Given the description of an element on the screen output the (x, y) to click on. 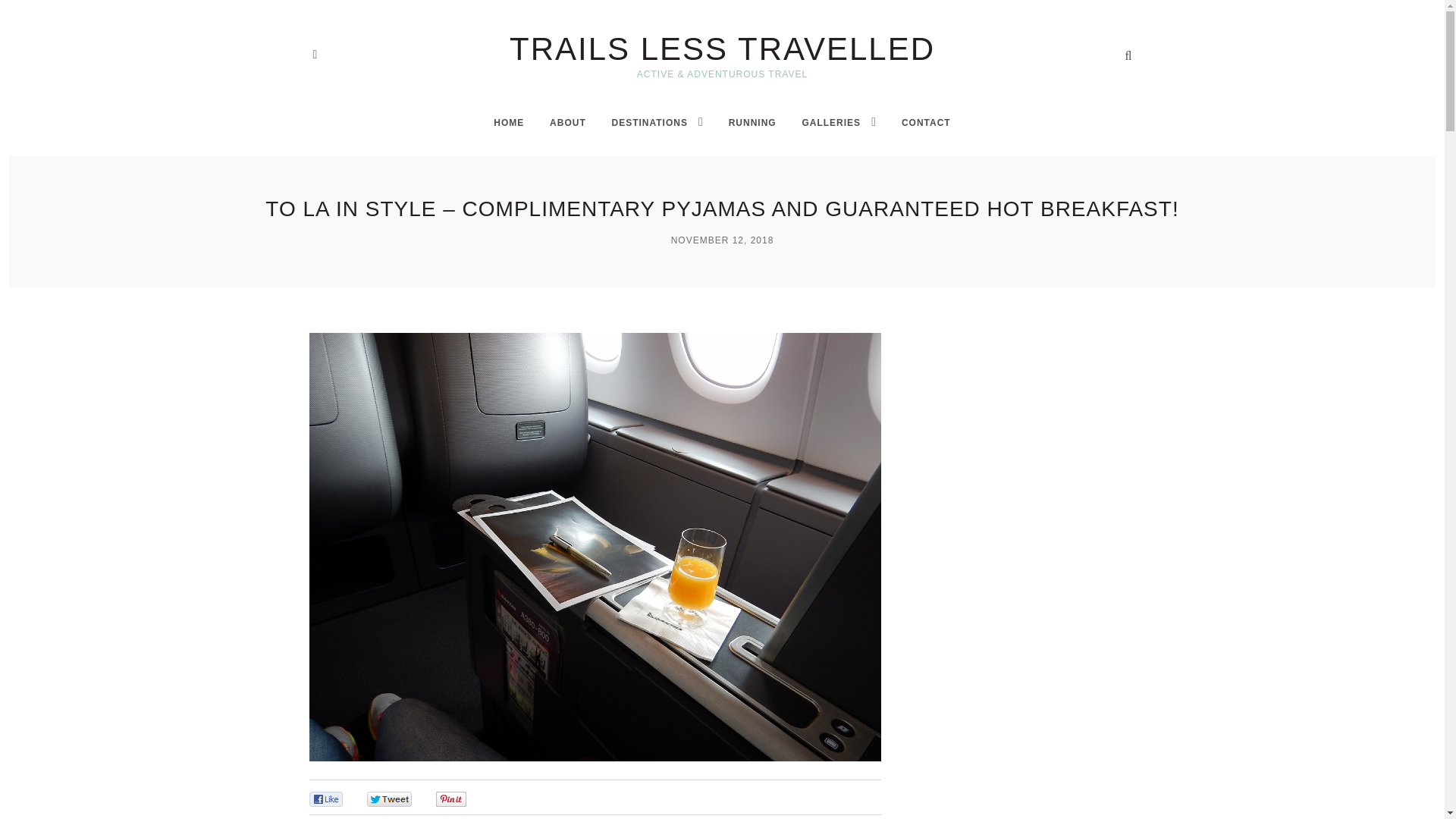
GALLERIES (831, 122)
HOME (508, 122)
Be the first one to tweet this article! (405, 799)
RUNNING (752, 122)
ABOUT (568, 122)
CONTACT (925, 122)
DESTINATIONS (649, 122)
